Given the description of an element on the screen output the (x, y) to click on. 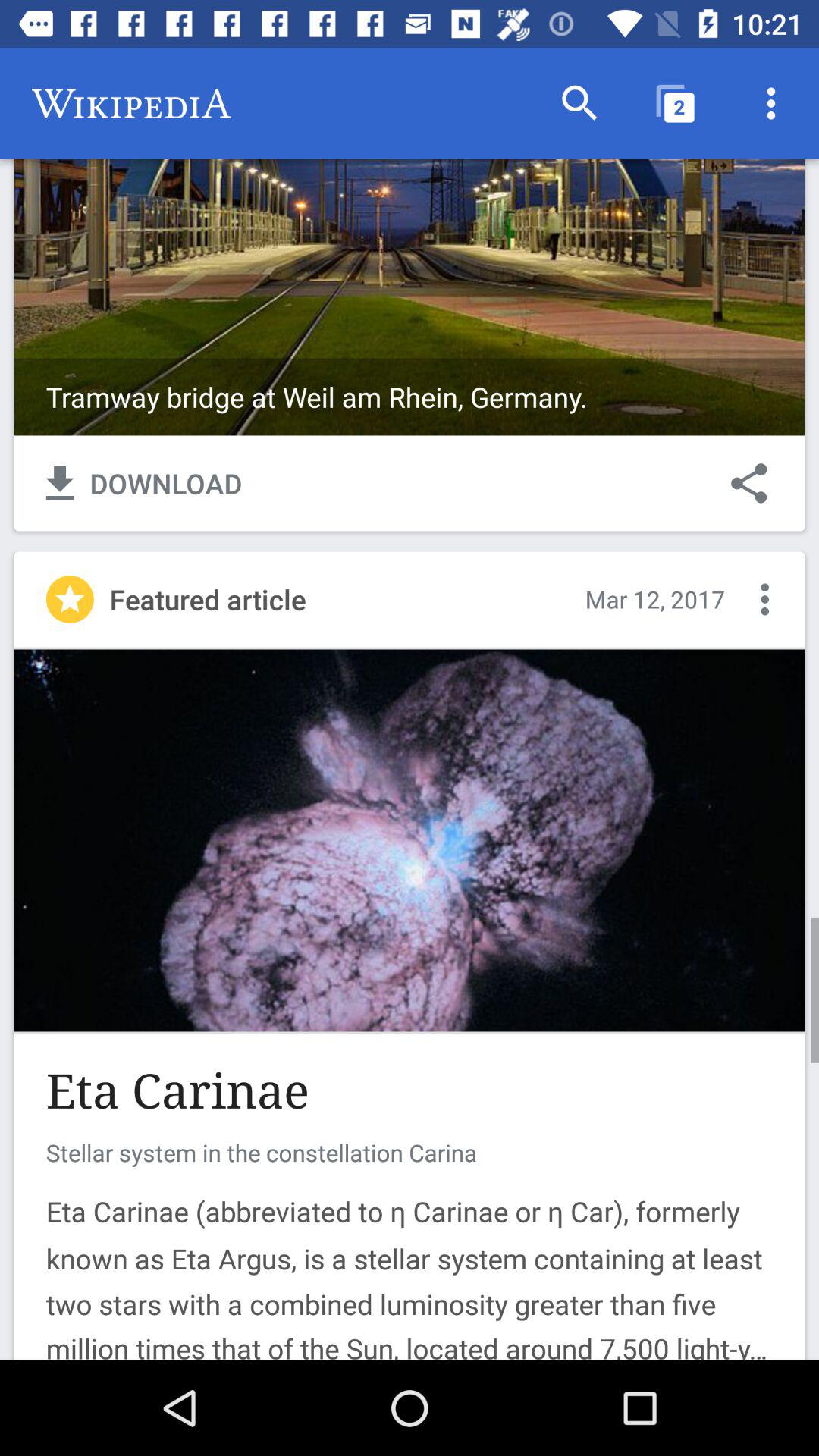
open wikipedia (409, 241)
